Given the description of an element on the screen output the (x, y) to click on. 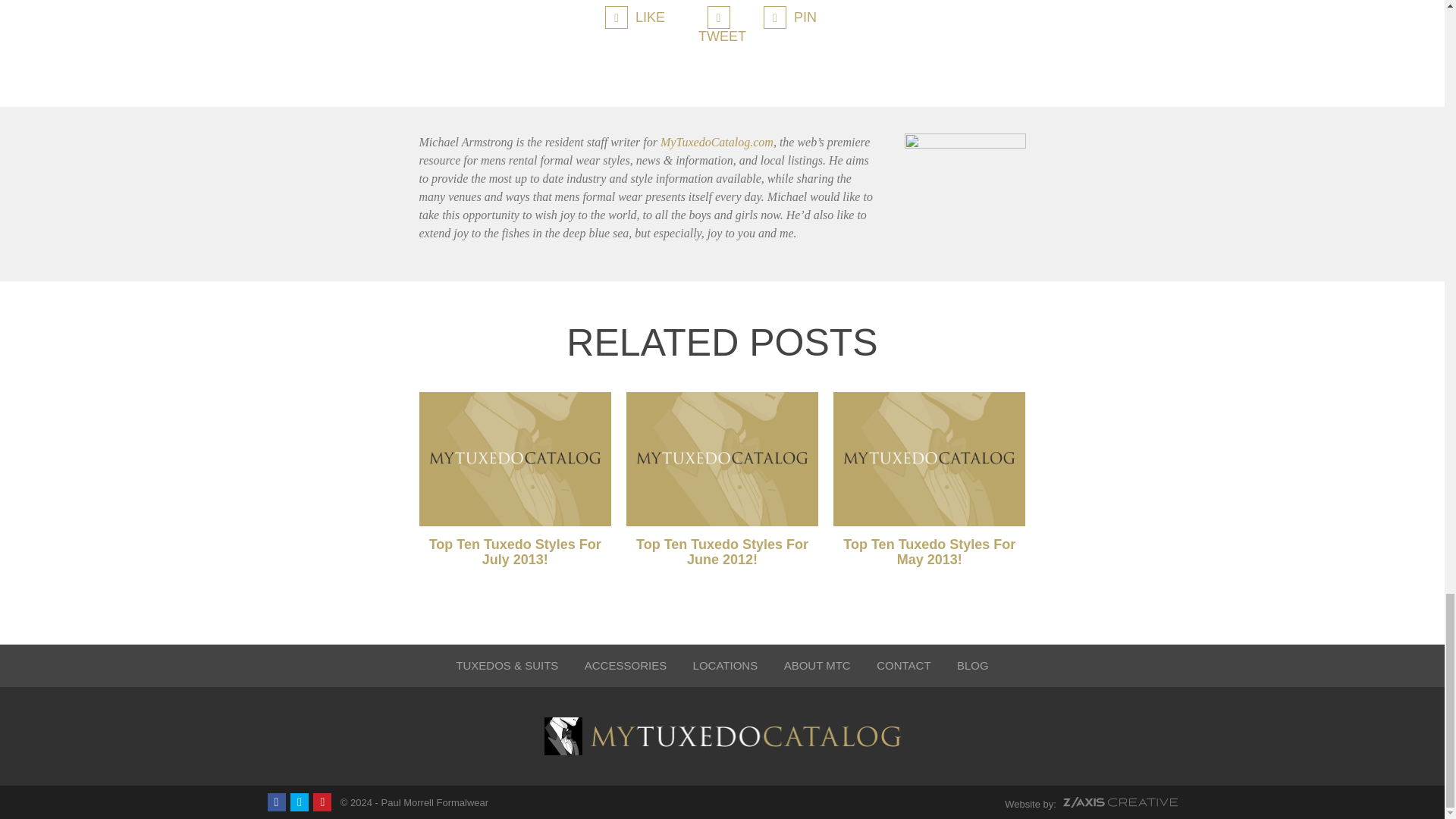
Follow us on Twitter (298, 802)
Follow us on Facebook (275, 802)
Top Ten Tuxedo Styles for June 2012! (722, 459)
Follow us on Pinterest (322, 802)
Top Ten Tuxedo Styles for July 2013! (514, 459)
Top Ten Tuxedo Styles for May 2013! (928, 459)
